Given the description of an element on the screen output the (x, y) to click on. 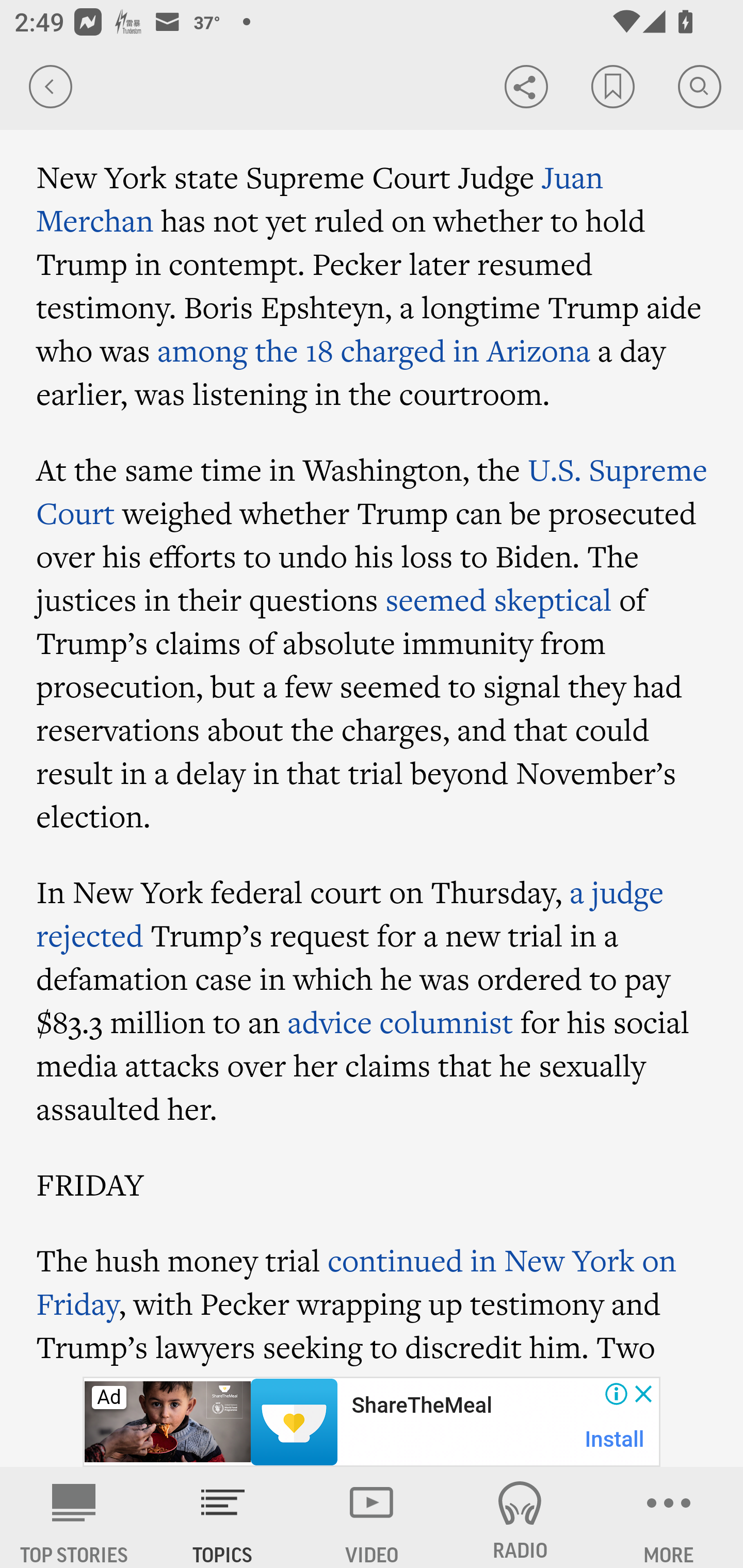
Juan Merchan (320, 199)
among the 18 charged in Arizona (374, 351)
U.S. Supreme Court (372, 491)
seemed skeptical (498, 599)
a judge rejected (350, 914)
advice columnist (400, 1022)
continued in New York on Friday (356, 1281)
ShareTheMeal (420, 1405)
Install (614, 1438)
AP News TOP STORIES (74, 1517)
TOPICS (222, 1517)
VIDEO (371, 1517)
RADIO (519, 1517)
MORE (668, 1517)
